Given the description of an element on the screen output the (x, y) to click on. 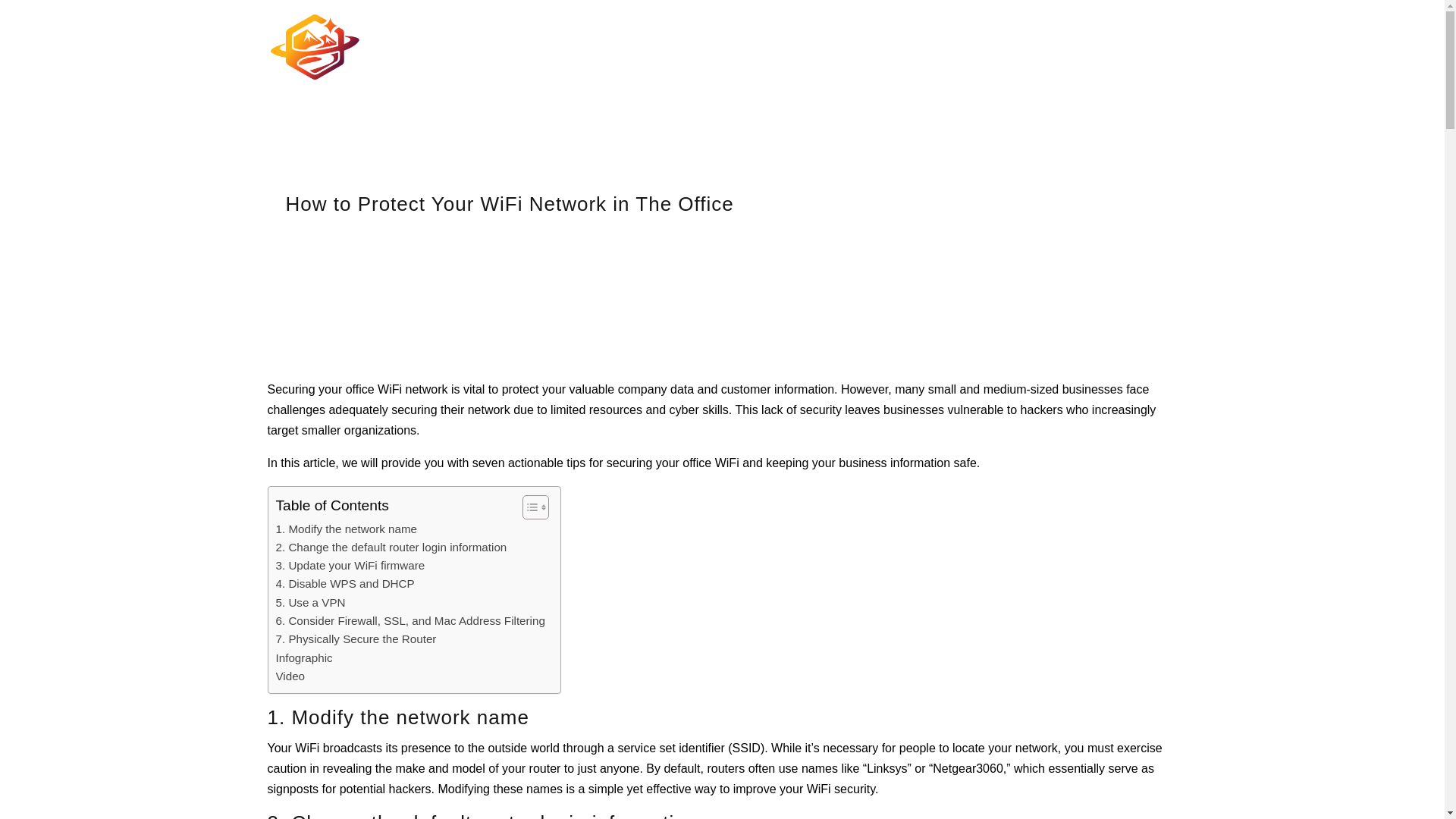
IT Support News, Tips, And Tech Resources (892, 67)
4. Disable WPS and DHCP (345, 583)
Network Technology Solutions in Utah (780, 67)
ABOUT US (973, 67)
IT SERVICES (509, 67)
SUBSCRIBE (1146, 67)
2. Change the default router login information (391, 547)
5. Use a VPN (311, 602)
NETWORK SOLUTIONS (780, 67)
6. Consider Firewall, SSL, and Mac Address Filtering (410, 620)
